Given the description of an element on the screen output the (x, y) to click on. 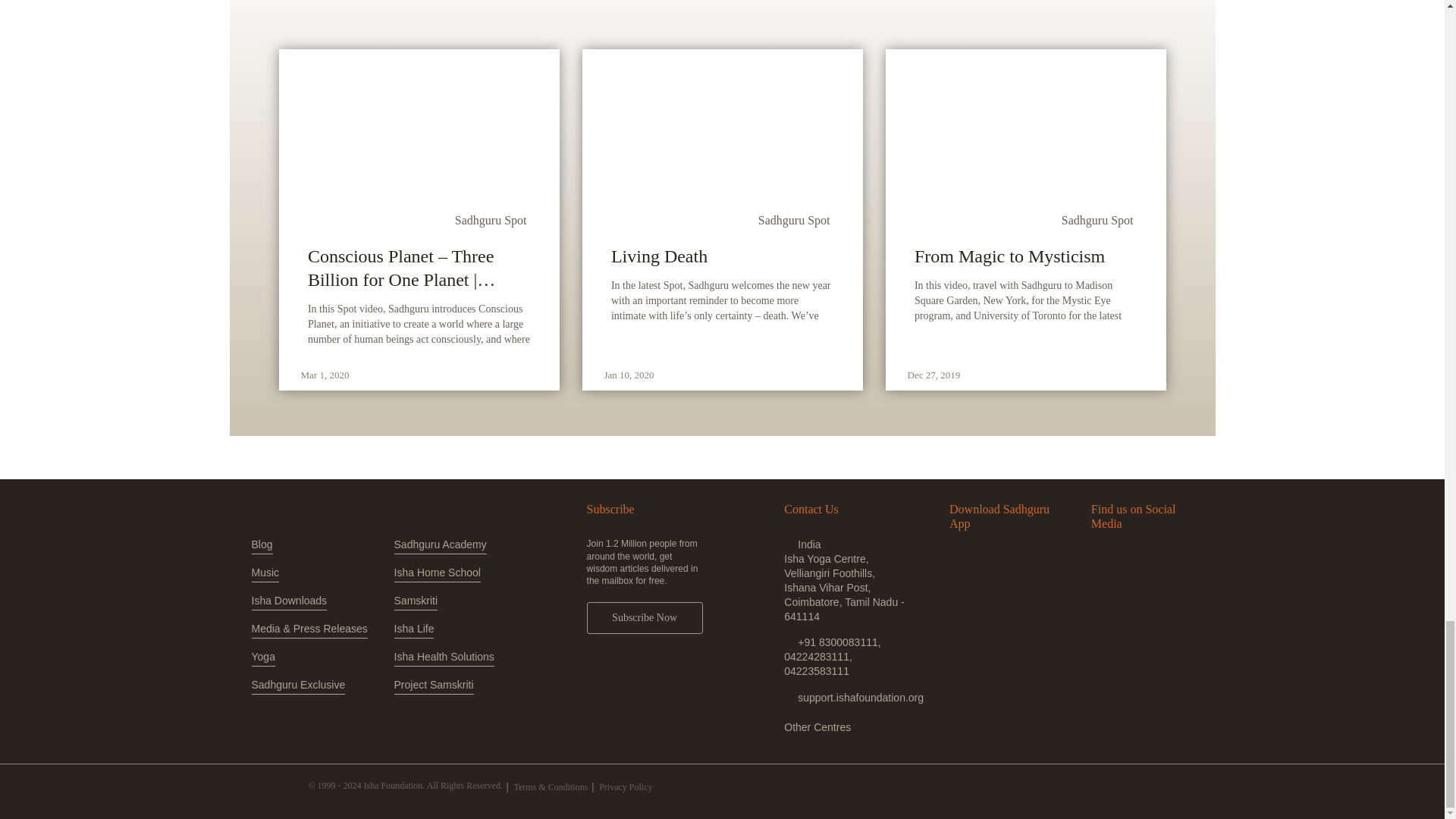
From Magic to Mysticism (1025, 256)
Living Death (721, 256)
